Given the description of an element on the screen output the (x, y) to click on. 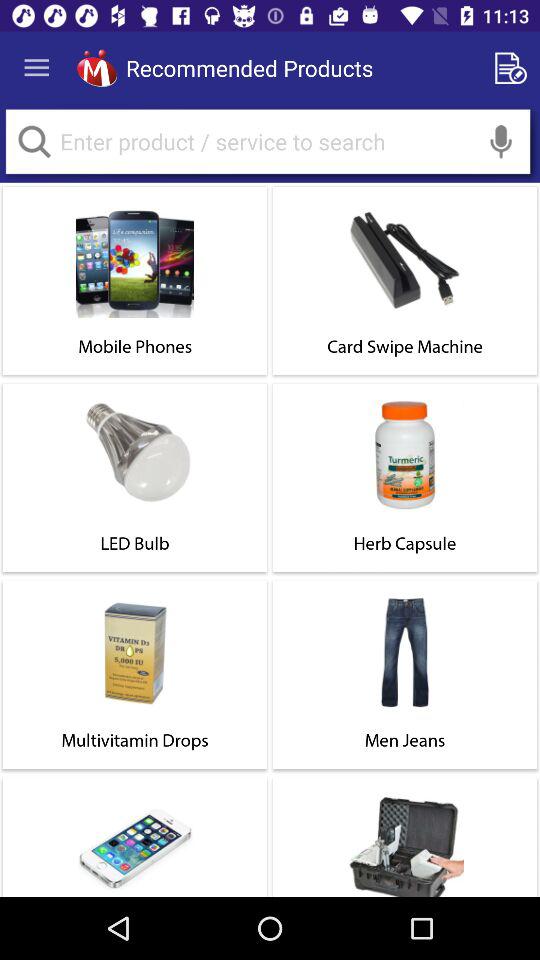
quick search (34, 141)
